Given the description of an element on the screen output the (x, y) to click on. 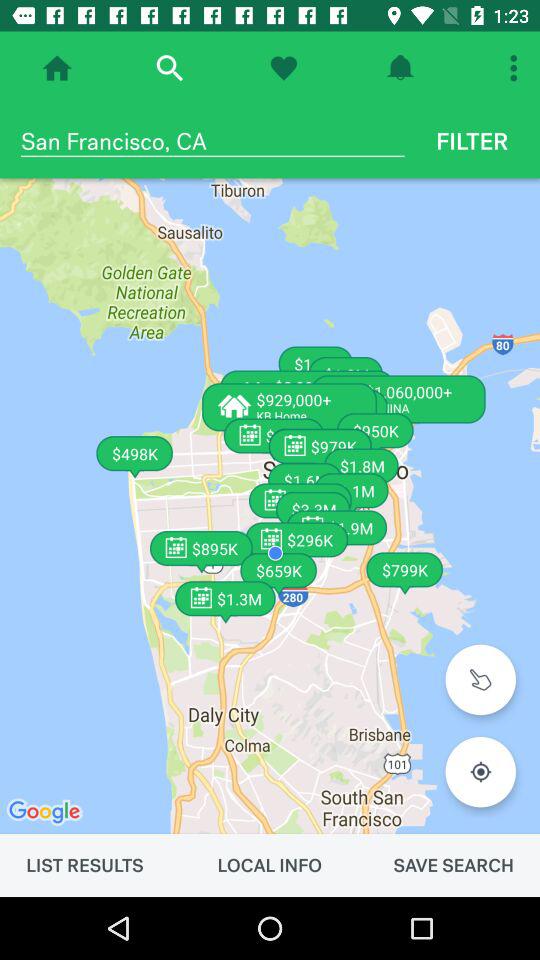
notifications (400, 68)
